Given the description of an element on the screen output the (x, y) to click on. 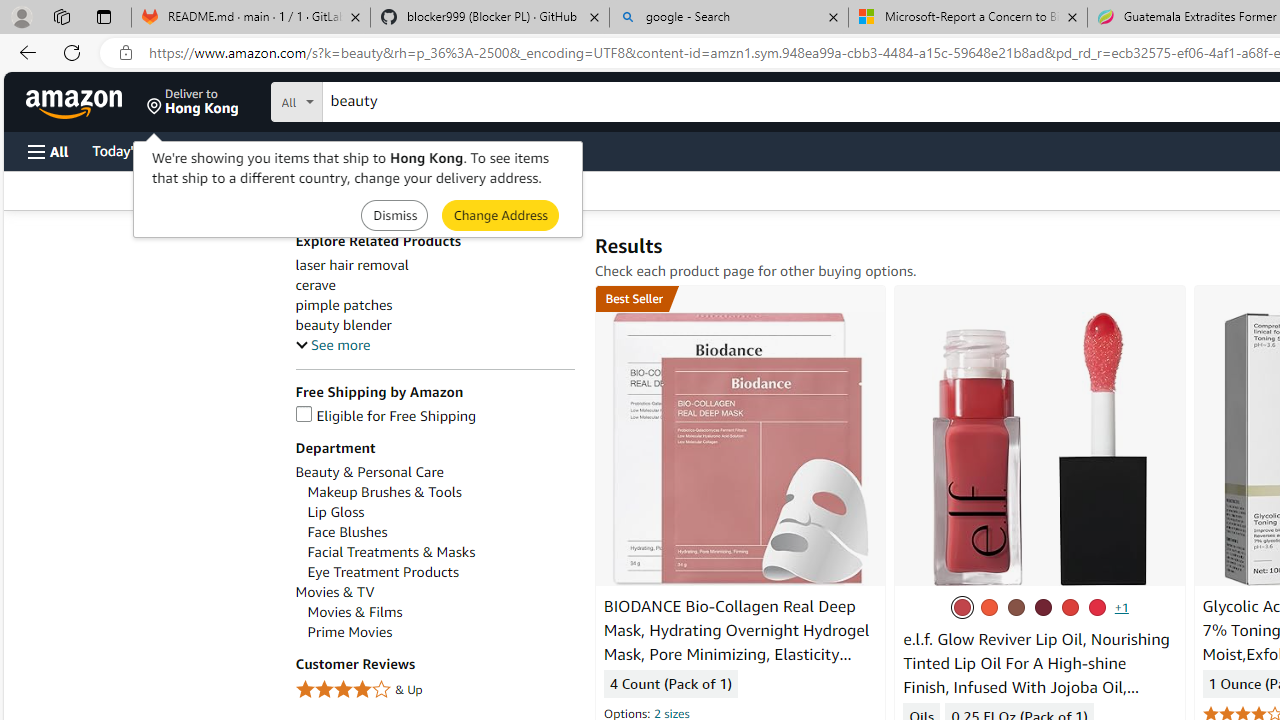
Search in (371, 99)
Makeup Brushes & Tools (440, 492)
Movies & TV (434, 592)
Honey Talks (1016, 607)
Movies & Films (440, 612)
cerave (314, 285)
cerave (434, 285)
Pink Quartz (1070, 607)
pimple patches (343, 305)
Face Blushes (440, 532)
